Given the description of an element on the screen output the (x, y) to click on. 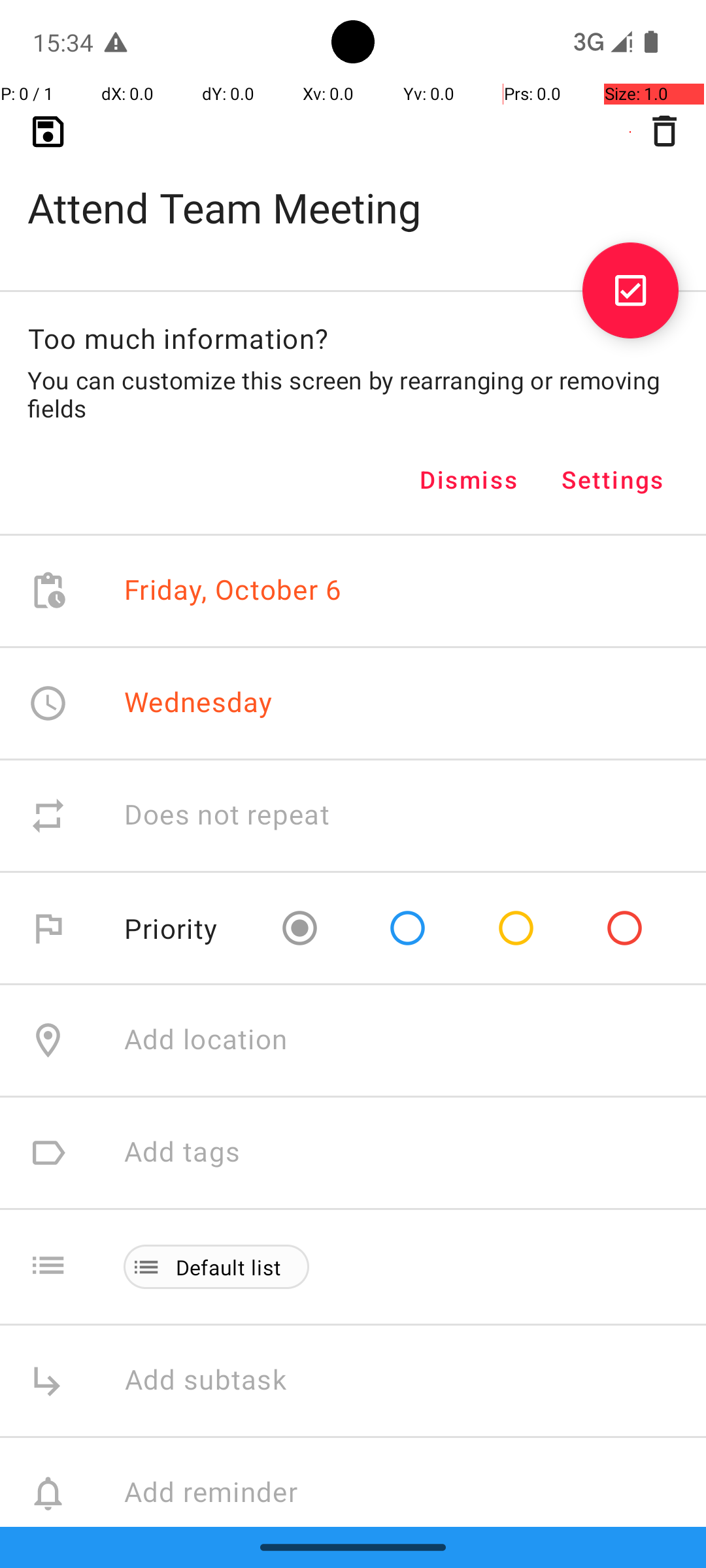
Friday, October 6 Element type: android.widget.TextView (232, 590)
